Given the description of an element on the screen output the (x, y) to click on. 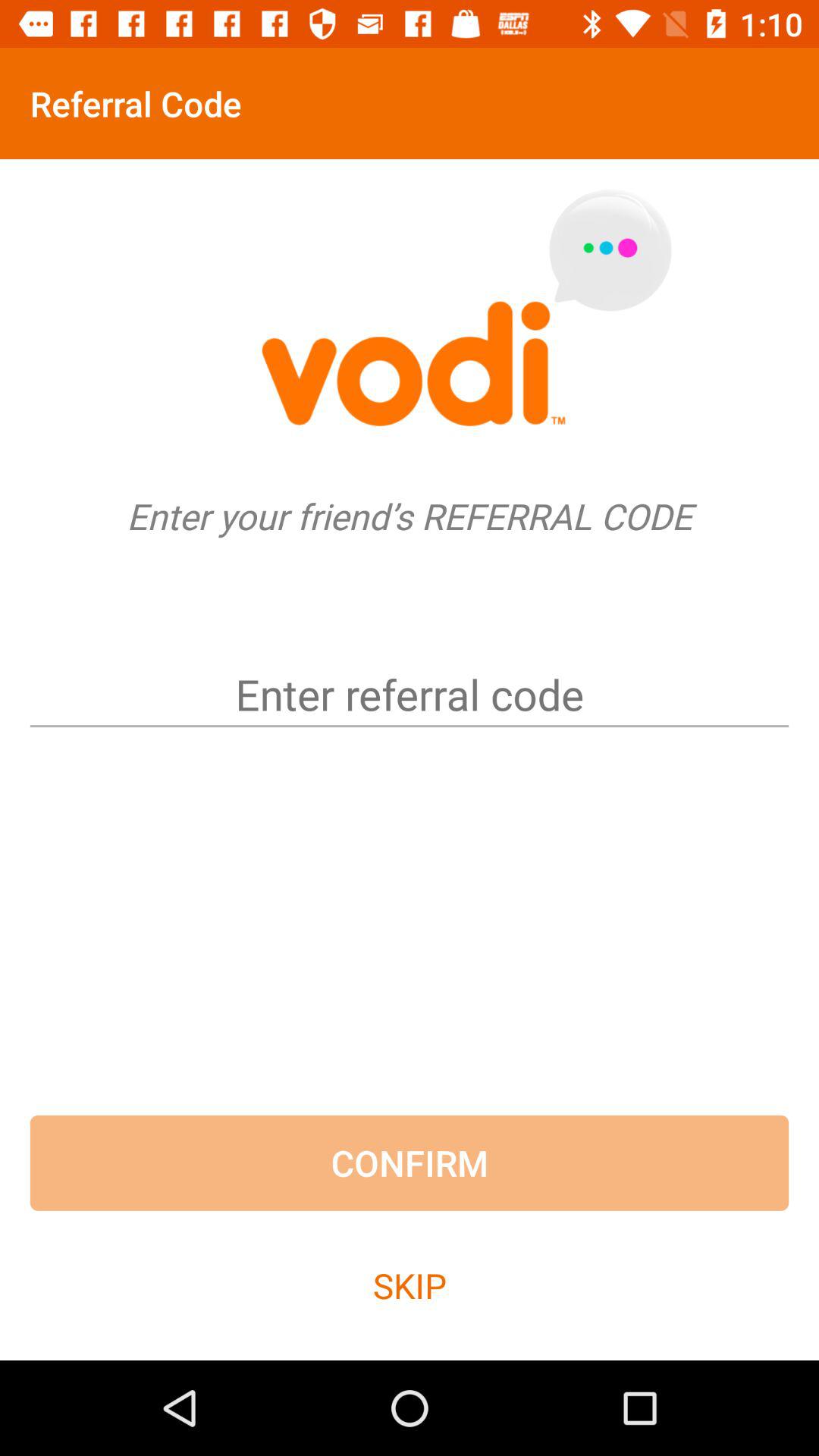
launch confirm (409, 1162)
